Given the description of an element on the screen output the (x, y) to click on. 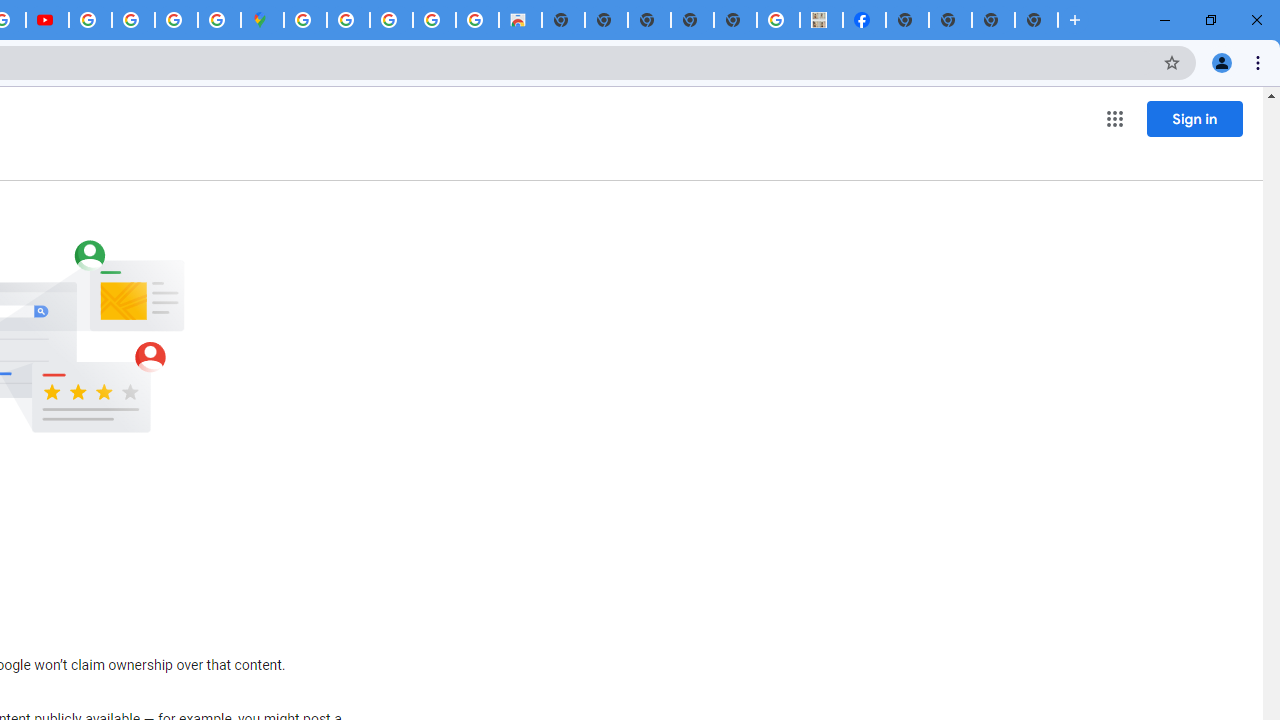
Google Maps (262, 20)
Subscriptions - YouTube (47, 20)
New Tab (1036, 20)
Sign in - Google Accounts (305, 20)
